Given the description of an element on the screen output the (x, y) to click on. 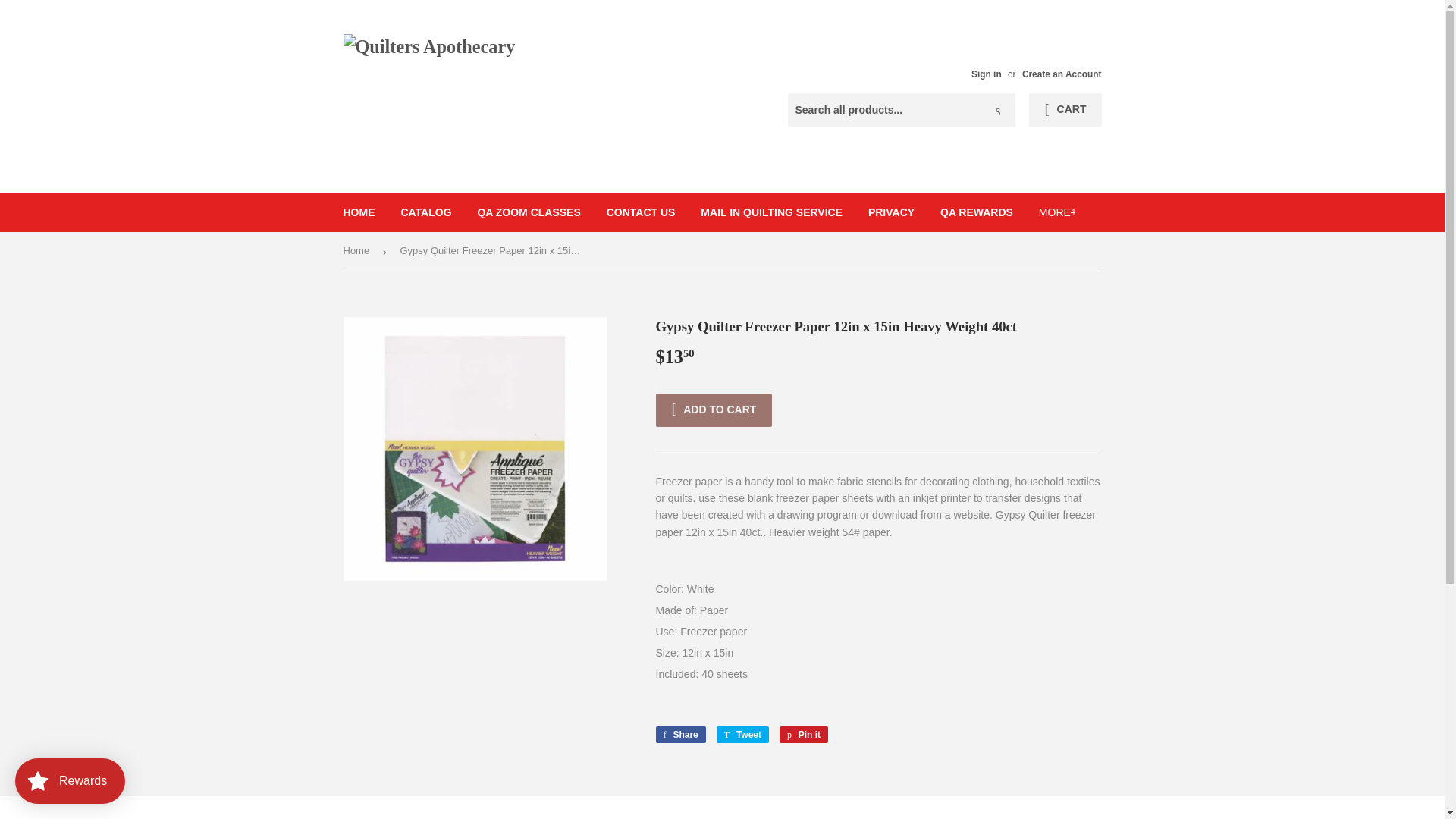
Search (997, 110)
QA REWARDS (976, 211)
MAIL IN QUILTING SERVICE (770, 211)
QA ZOOM CLASSES (528, 211)
Pin on Pinterest (803, 734)
Sign in (986, 73)
Create an Account (1062, 73)
CONTACT US (641, 211)
HOME (359, 211)
CART (1064, 109)
